Given the description of an element on the screen output the (x, y) to click on. 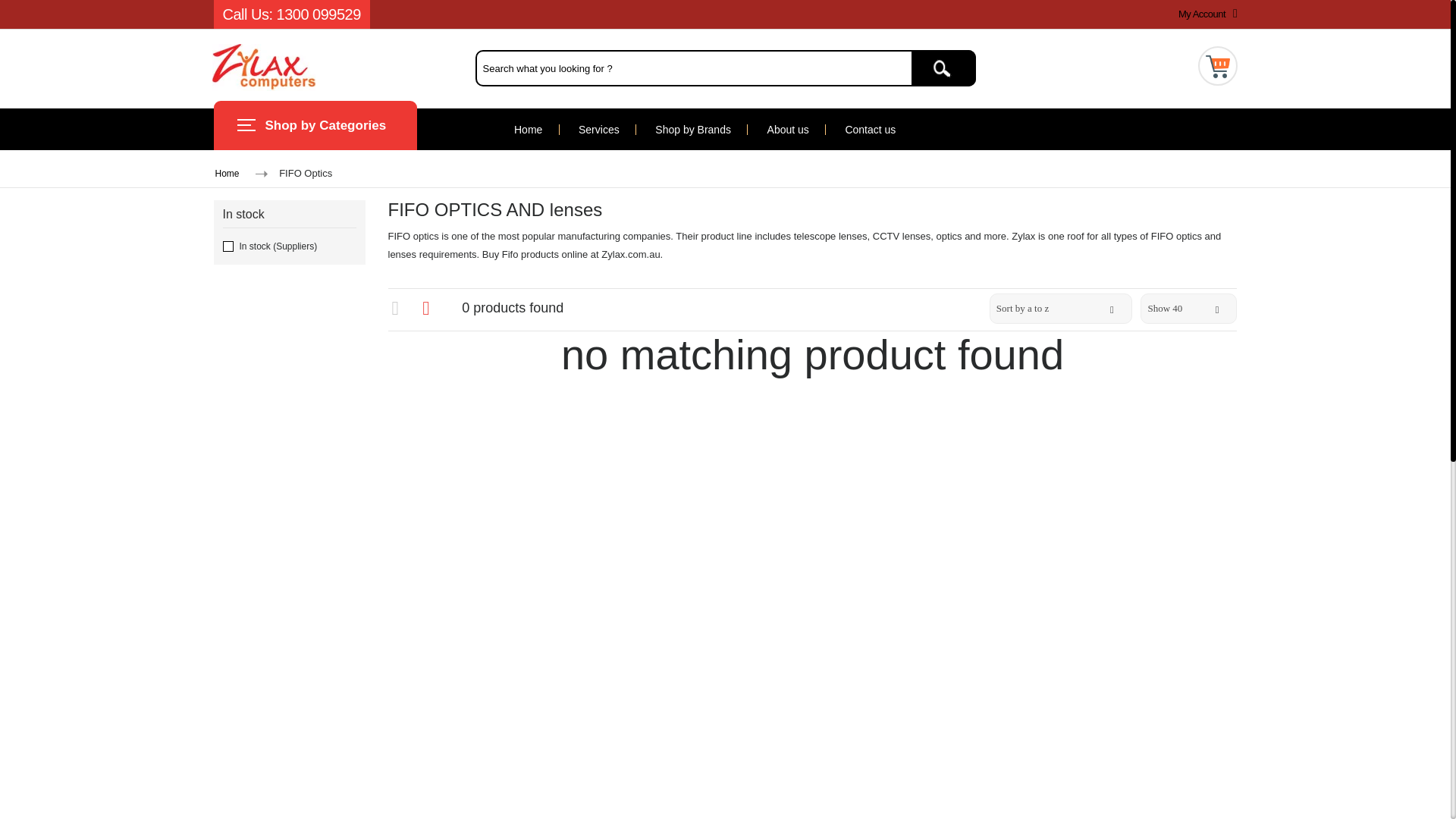
Zylax Computers (263, 66)
Call Us: 1300 099529 (291, 13)
Cart page (1217, 61)
My Account (1204, 13)
. (943, 67)
